Given the description of an element on the screen output the (x, y) to click on. 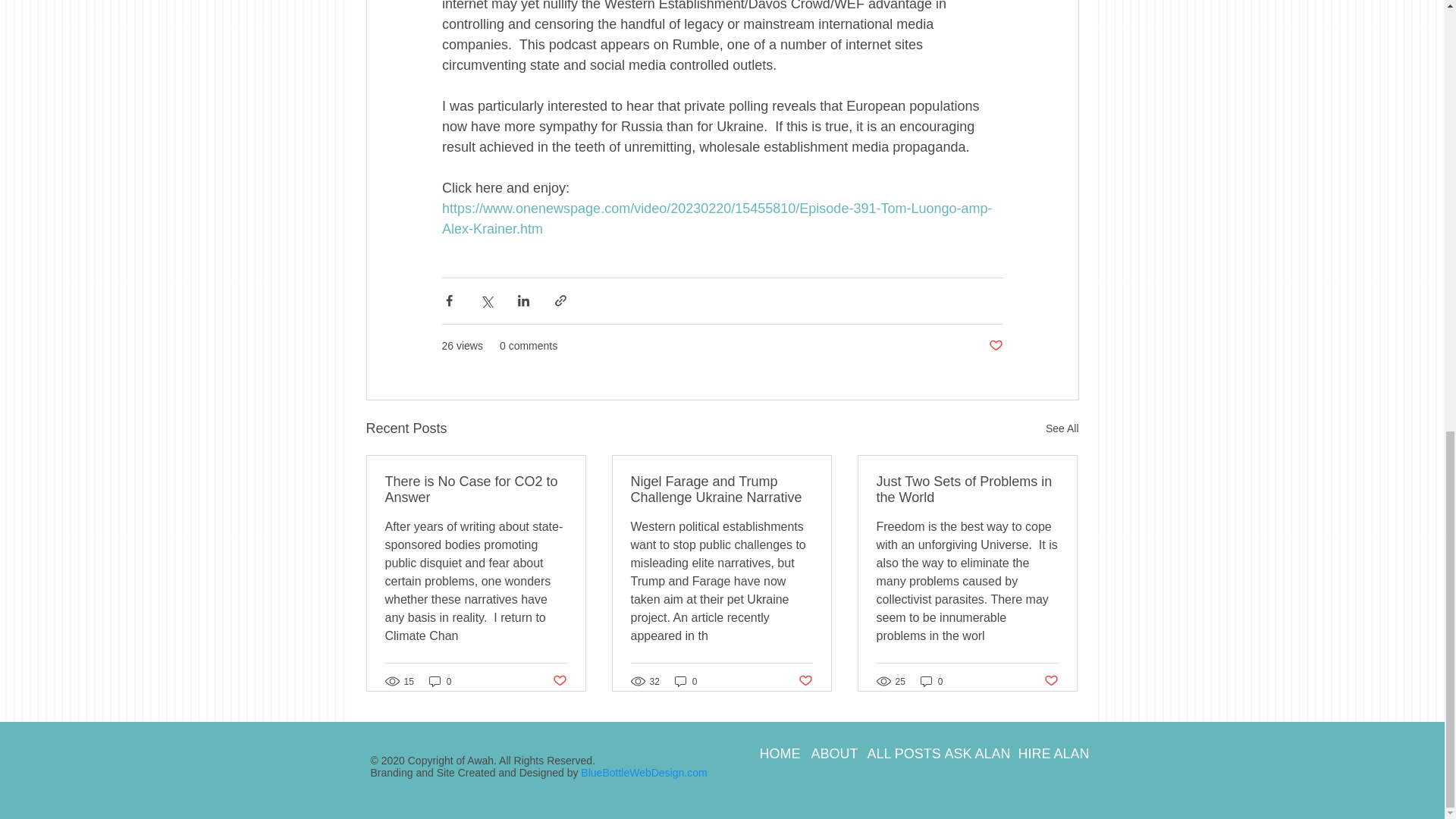
Post not marked as liked (1050, 681)
Just Two Sets of Problems in the World (967, 490)
Post not marked as liked (995, 345)
BlueBottleWebDesign.com (643, 772)
Post not marked as liked (558, 681)
ASK ALAN (969, 753)
HOME (773, 753)
0 (685, 681)
ABOUT (827, 753)
0 (931, 681)
